Given the description of an element on the screen output the (x, y) to click on. 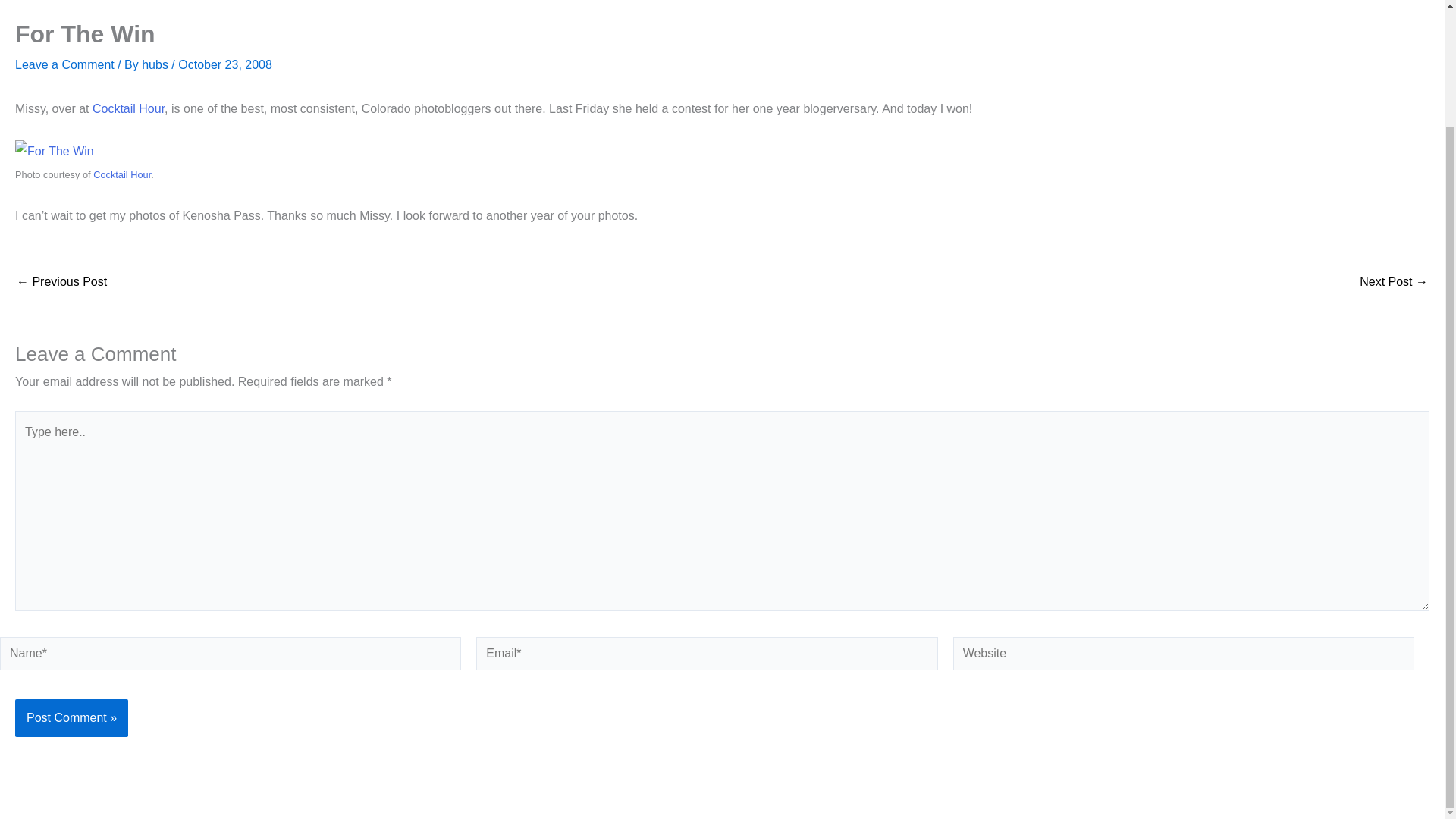
View all posts by hubs (156, 64)
Leave a Comment (64, 64)
hubs (156, 64)
Cocktail Hour (122, 174)
For The Win (54, 150)
Tweets For The Week Of 2008-10-26 (1393, 282)
Cocktail Hour (128, 108)
Tweets For The Week Of 2008-10-19 (61, 282)
